Given the description of an element on the screen output the (x, y) to click on. 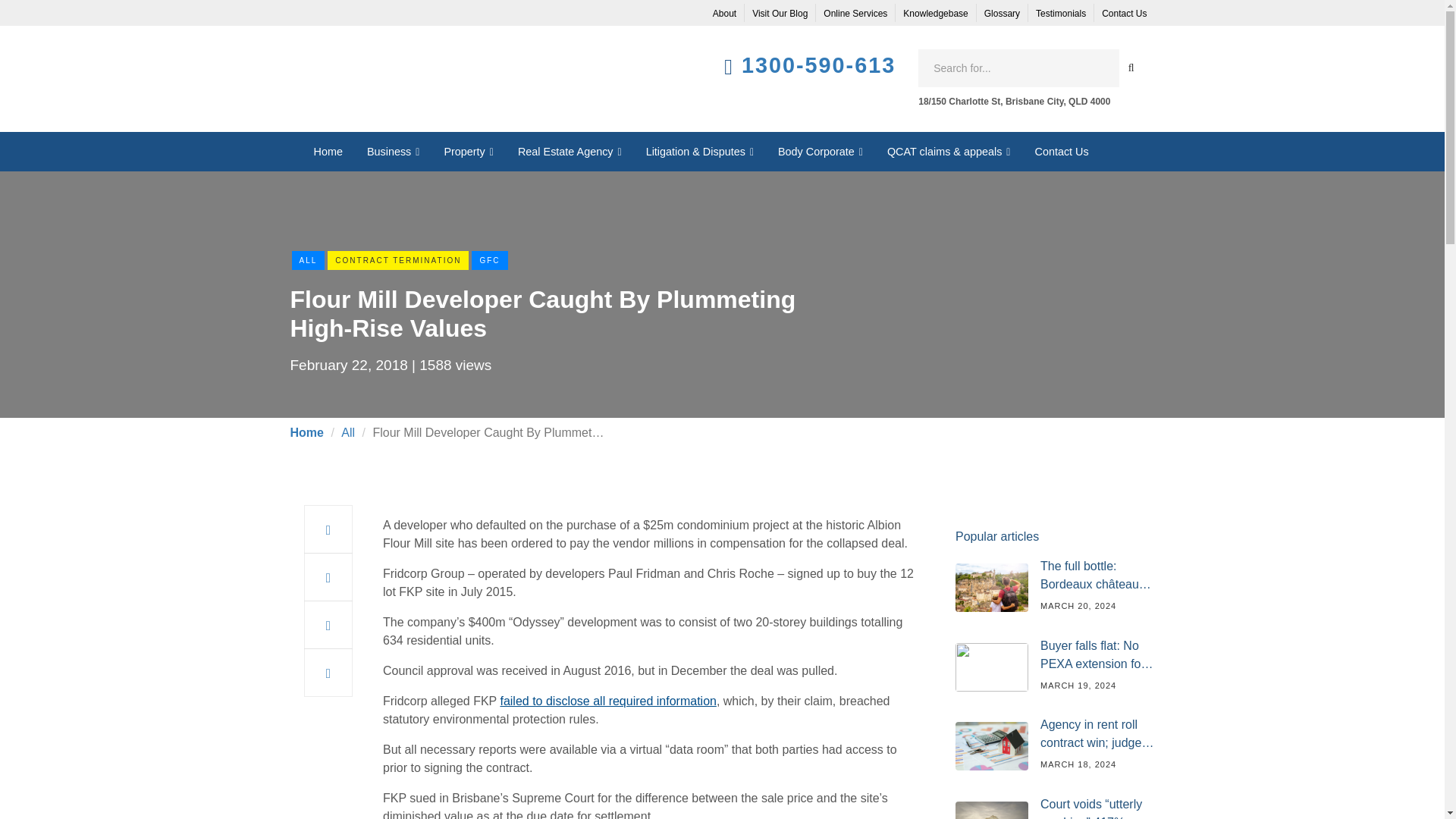
About (724, 13)
Property (467, 151)
Glossary (1001, 13)
Knowledgebase (935, 13)
Home (328, 151)
1300-590-613 (818, 64)
Visit Our Blog (779, 13)
Real Estate Agency (569, 151)
Contact Us (1124, 13)
Business (393, 151)
Online Services (855, 13)
Testimonials (1060, 13)
